Given the description of an element on the screen output the (x, y) to click on. 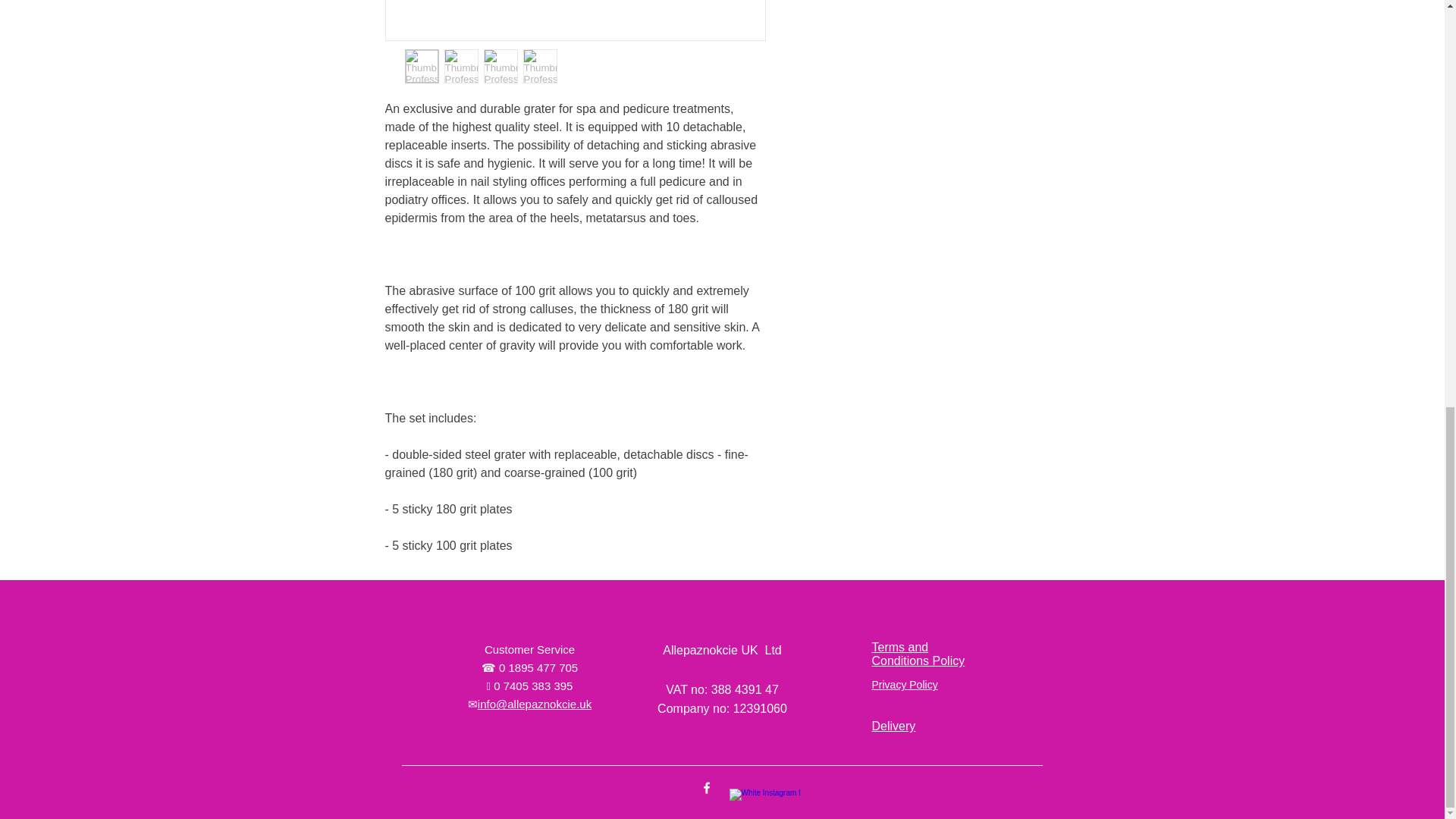
Privacy Policy (904, 684)
Delivery (893, 725)
Terms and Conditions Policy (918, 653)
